Given the description of an element on the screen output the (x, y) to click on. 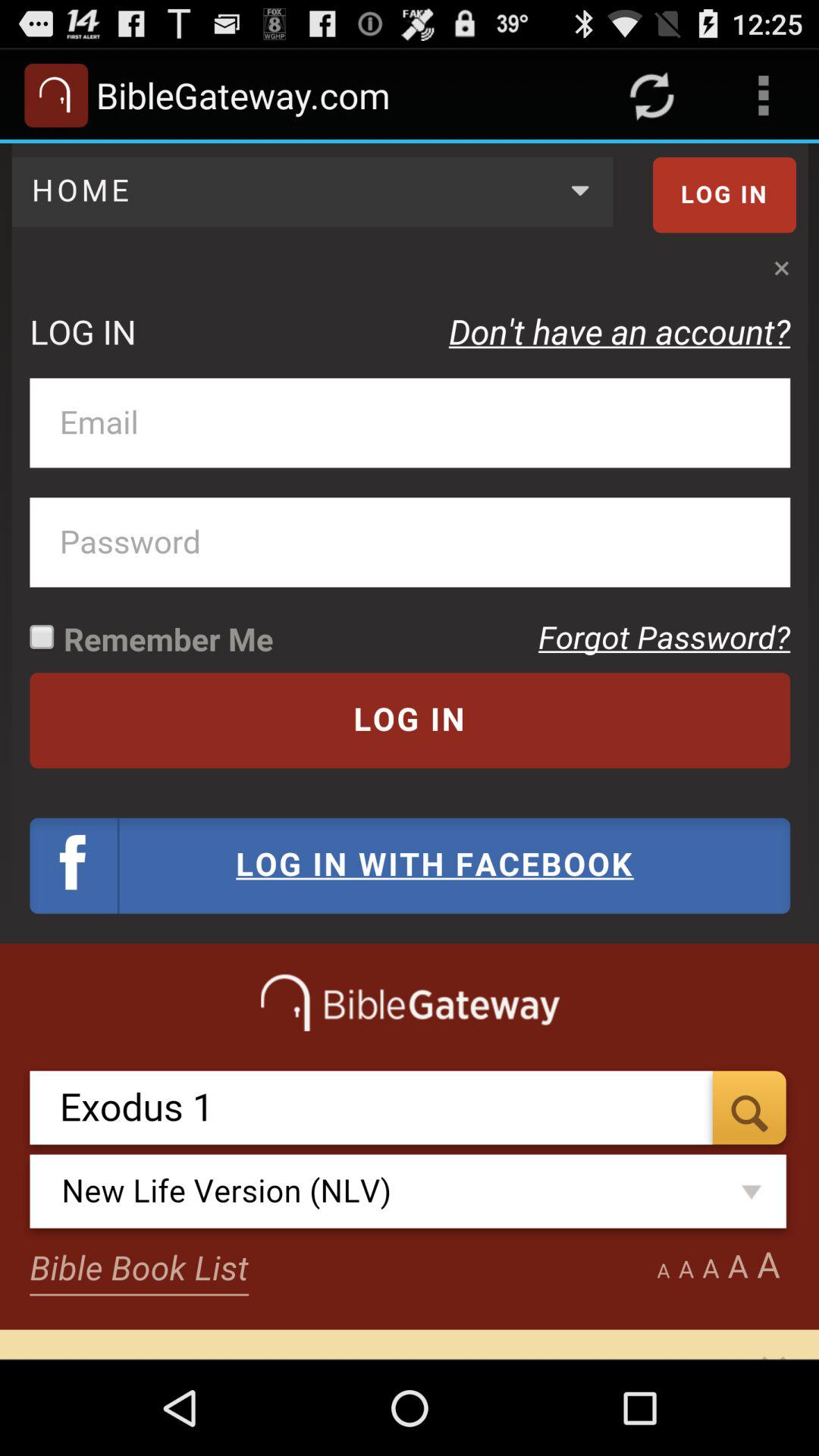
bible gateway.com details in screen (409, 751)
